Given the description of an element on the screen output the (x, y) to click on. 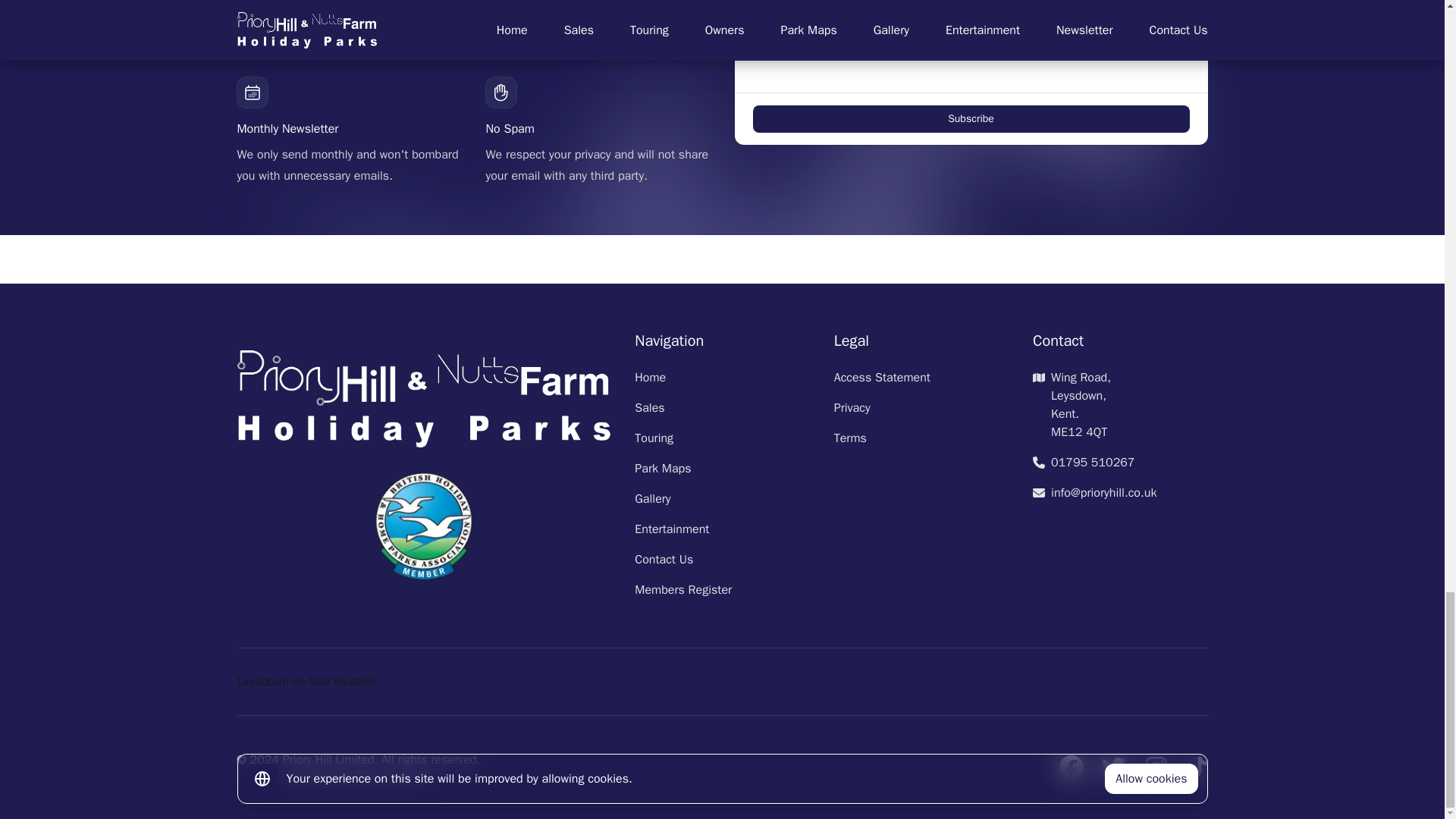
Subscribe (970, 117)
Touring (653, 437)
Entertainment (671, 529)
Priory Hill Facebook (1070, 767)
Priory Hill Instagram (1154, 767)
Park Maps (662, 468)
Priory Hill Tiktok (1196, 767)
Sales (648, 407)
Priory Hill Twitter (1112, 767)
Home (649, 377)
